Given the description of an element on the screen output the (x, y) to click on. 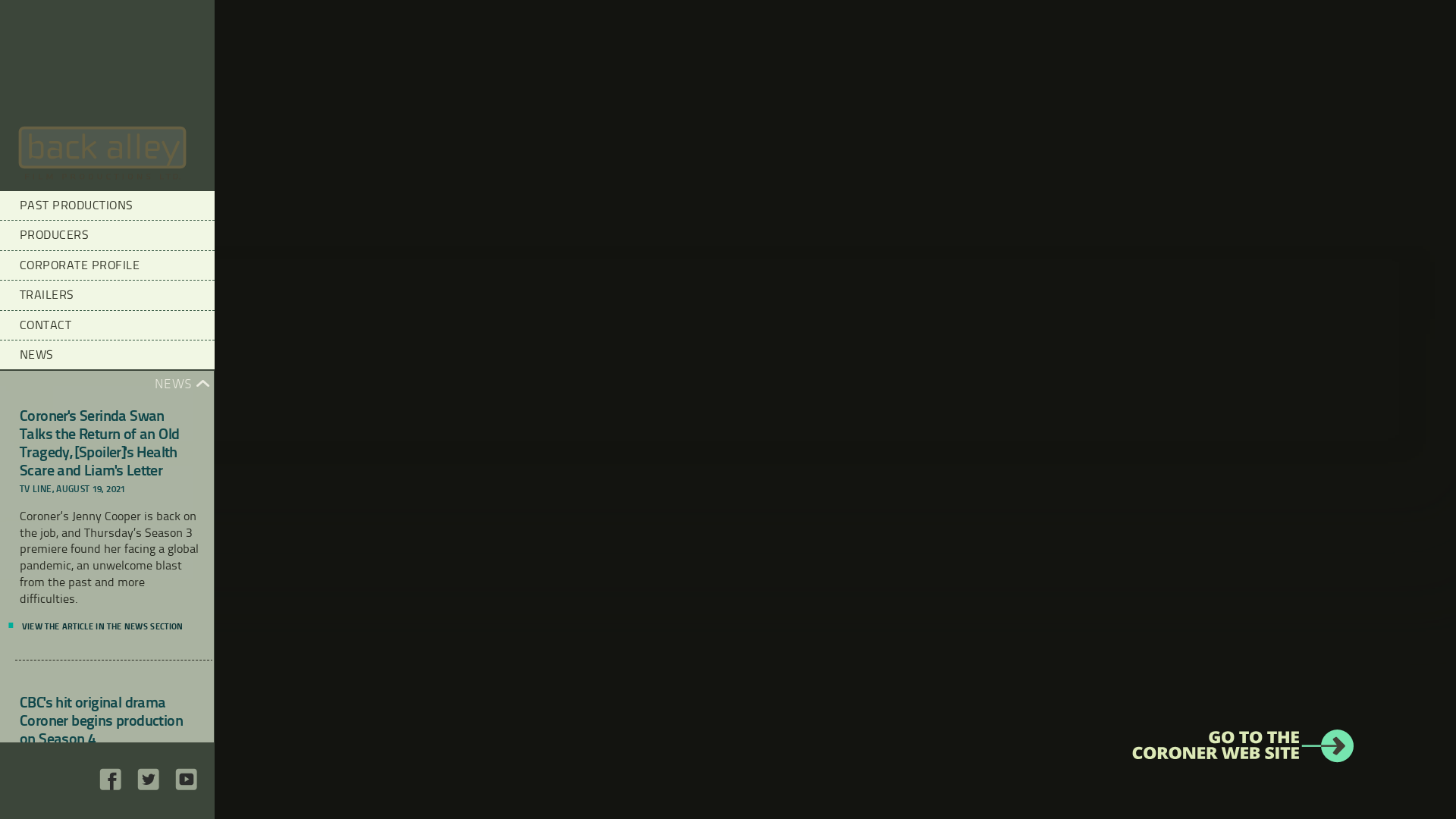
CONTACT Element type: text (107, 324)
CORPORATE PROFILE Element type: text (107, 264)
PAST PRODUCTIONS Element type: text (107, 205)
PRODUCERS Element type: text (107, 234)
NEWS Element type: text (107, 354)
  Element type: text (110, 787)
 VIEW THE ARTICLE IN THE NEWS SECTION Element type: text (100, 626)
  Element type: text (148, 787)
  Element type: text (186, 787)
TRAILERS Element type: text (107, 294)
